Given the description of an element on the screen output the (x, y) to click on. 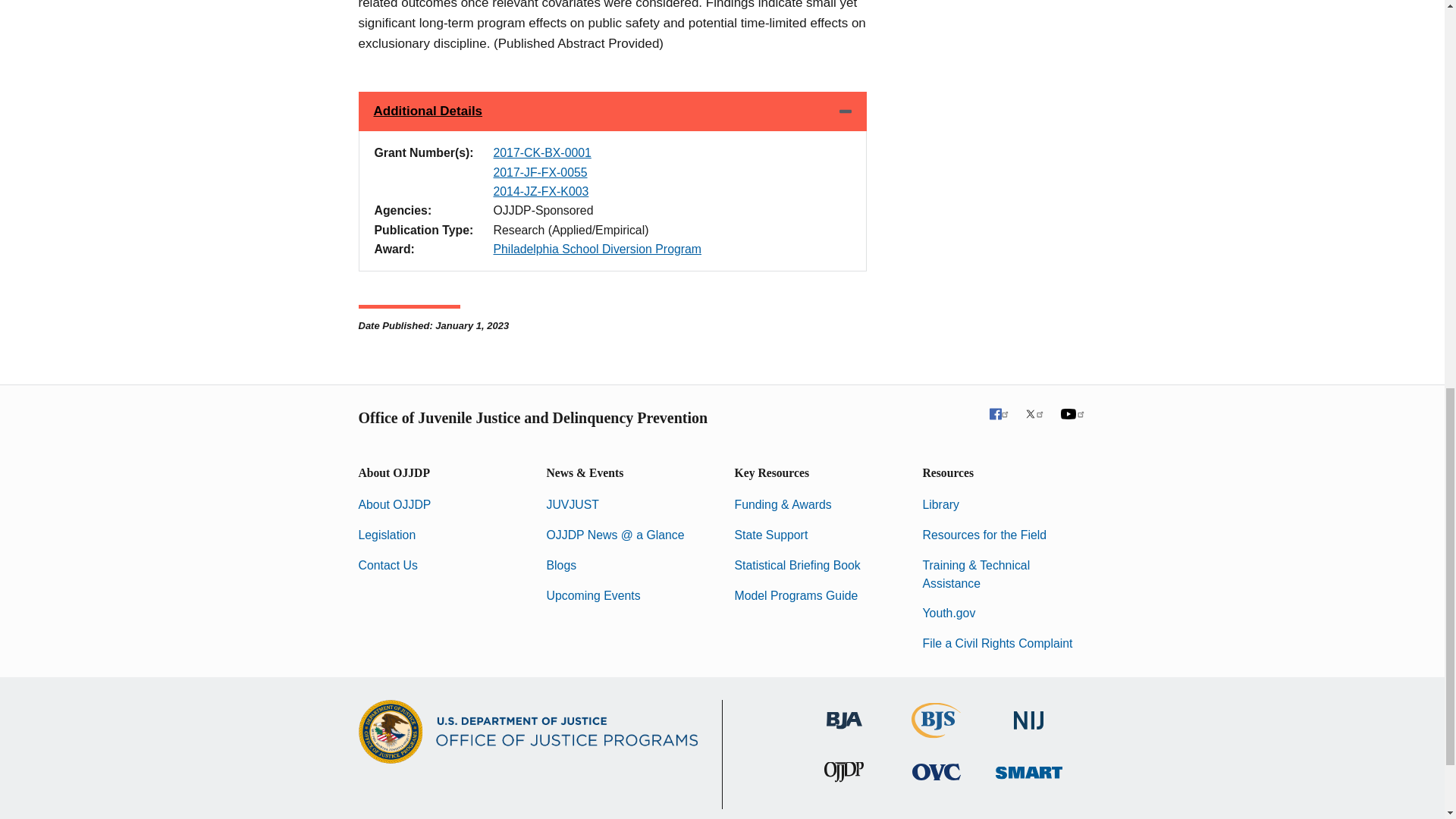
2017-CK-BX-0001 (542, 152)
Philadelphia School Diversion Program (597, 248)
2014-JZ-FX-K003 (540, 191)
2017-JF-FX-0055 (539, 172)
Additional Details (612, 111)
